Given the description of an element on the screen output the (x, y) to click on. 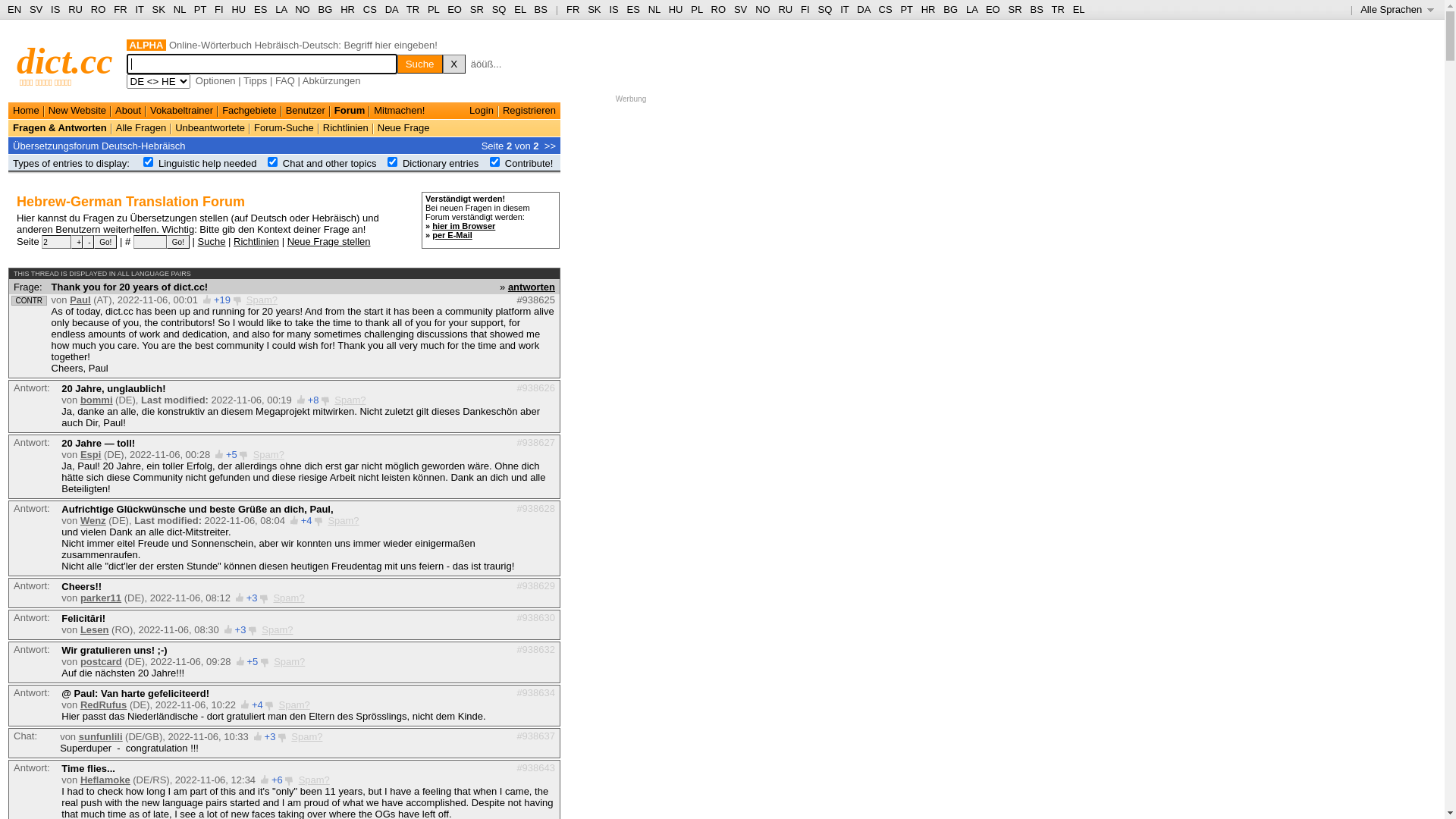
Spam? Element type: text (276, 629)
PL Element type: text (433, 9)
sunfunlili Element type: text (100, 736)
+3 Element type: text (240, 629)
Suche Element type: text (211, 240)
antworten Element type: text (531, 285)
LA Element type: text (971, 9)
Go! Element type: text (105, 241)
RO Element type: text (718, 9)
NL Element type: text (654, 9)
Spam? Element type: text (288, 661)
Espi Element type: text (90, 454)
IS Element type: text (54, 9)
SV Element type: text (740, 9)
Wenz Element type: text (93, 520)
FI Element type: text (218, 9)
#938625 Element type: text (535, 299)
ES Element type: text (260, 9)
Spam? Element type: text (342, 520)
Mitmachen! Element type: text (398, 110)
Unbeantwortete Element type: text (209, 127)
Suche Element type: text (419, 63)
HR Element type: text (347, 9)
dict.cc Element type: text (64, 60)
#938626 Element type: text (535, 387)
on Element type: text (148, 161)
Dictionary entries Element type: text (440, 163)
NL Element type: text (179, 9)
NO Element type: text (302, 9)
EO Element type: text (454, 9)
BS Element type: text (1035, 9)
+5 Element type: text (251, 661)
TR Element type: text (412, 9)
PT Element type: text (200, 9)
Contribute! Element type: text (529, 163)
NO Element type: text (762, 9)
Vokabeltrainer Element type: text (181, 110)
BS Element type: text (540, 9)
#938628 Element type: text (535, 507)
DA Element type: text (862, 9)
RU Element type: text (785, 9)
Heflamoke Element type: text (105, 779)
Lesen Element type: text (94, 629)
#938643 Element type: text (535, 766)
+5 Element type: text (231, 454)
Linguistic help needed Element type: text (207, 163)
Fragen & Antworten Element type: text (59, 127)
+4 Element type: text (306, 520)
bommi Element type: text (96, 399)
EN Element type: text (14, 9)
SQ Element type: text (824, 9)
SK Element type: text (593, 9)
#938632 Element type: text (535, 648)
Spam? Element type: text (349, 399)
postcard Element type: text (101, 661)
IT Element type: text (138, 9)
FI Element type: text (804, 9)
PT Element type: text (906, 9)
#938629 Element type: text (535, 584)
BG Element type: text (950, 9)
SR Element type: text (476, 9)
Spam? Element type: text (294, 704)
X Element type: text (453, 63)
RedRufus Element type: text (103, 704)
+8 Element type: text (313, 399)
Registrieren Element type: text (528, 110)
Forum Element type: text (349, 110)
Spam? Element type: text (306, 736)
LA Element type: text (280, 9)
HR Element type: text (928, 9)
Spam? Element type: text (261, 299)
EL Element type: text (1079, 9)
IT Element type: text (844, 9)
+3 Element type: text (270, 736)
EL Element type: text (519, 9)
About Element type: text (128, 110)
RU Element type: text (75, 9)
#938630 Element type: text (535, 616)
Optionen Element type: text (215, 80)
#938634 Element type: text (535, 692)
Chat and other topics Element type: text (329, 163)
Alle Fragen Element type: text (141, 127)
Spam? Element type: text (268, 454)
FR Element type: text (119, 9)
DA Element type: text (391, 9)
+3 Element type: text (251, 597)
SR Element type: text (1015, 9)
Forum-Suche Element type: text (283, 127)
Login Element type: text (481, 110)
Richtlinien Element type: text (345, 127)
FAQ Element type: text (284, 80)
HU Element type: text (238, 9)
TR Element type: text (1057, 9)
New Website Element type: text (77, 110)
Neue Frage Element type: text (403, 127)
BG Element type: text (325, 9)
Neue Frage stellen Element type: text (328, 240)
on Element type: text (272, 161)
#938637 Element type: text (535, 734)
Tipps Element type: text (254, 80)
SV Element type: text (35, 9)
+19 Element type: text (221, 299)
ES Element type: text (633, 9)
FR Element type: text (572, 9)
CS Element type: text (884, 9)
Paul Element type: text (79, 299)
parker11 Element type: text (100, 597)
CONTR Element type: text (28, 300)
Go! Element type: text (177, 241)
#938627 Element type: text (535, 442)
Spam? Element type: text (288, 597)
Hebrew-German Translation Forum Element type: text (130, 201)
SQ Element type: text (499, 9)
PL Element type: text (696, 9)
SK Element type: text (158, 9)
Richtlinien Element type: text (256, 240)
IS Element type: text (613, 9)
+6 Element type: text (276, 779)
Benutzer Element type: text (305, 110)
Home Element type: text (25, 110)
CS Element type: text (369, 9)
Spam? Element type: text (313, 779)
EO Element type: text (992, 9)
+4 Element type: text (257, 704)
Fachgebiete Element type: text (249, 110)
on Element type: text (392, 161)
HU Element type: text (675, 9)
Alle Sprachen  Element type: text (1397, 9)
on Element type: text (494, 161)
>> Element type: text (549, 144)
RO Element type: text (98, 9)
